Given the description of an element on the screen output the (x, y) to click on. 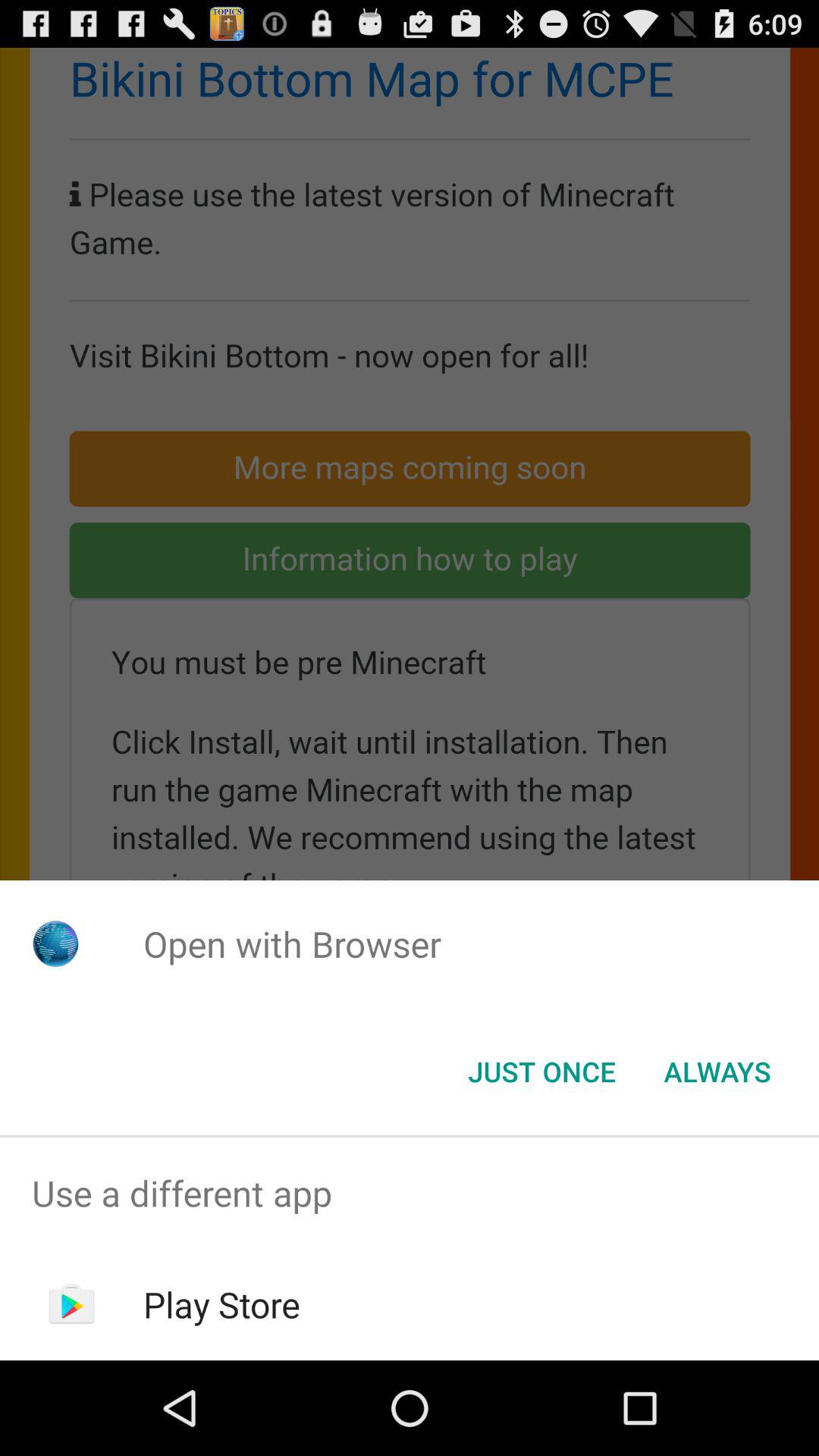
turn on play store item (221, 1304)
